Given the description of an element on the screen output the (x, y) to click on. 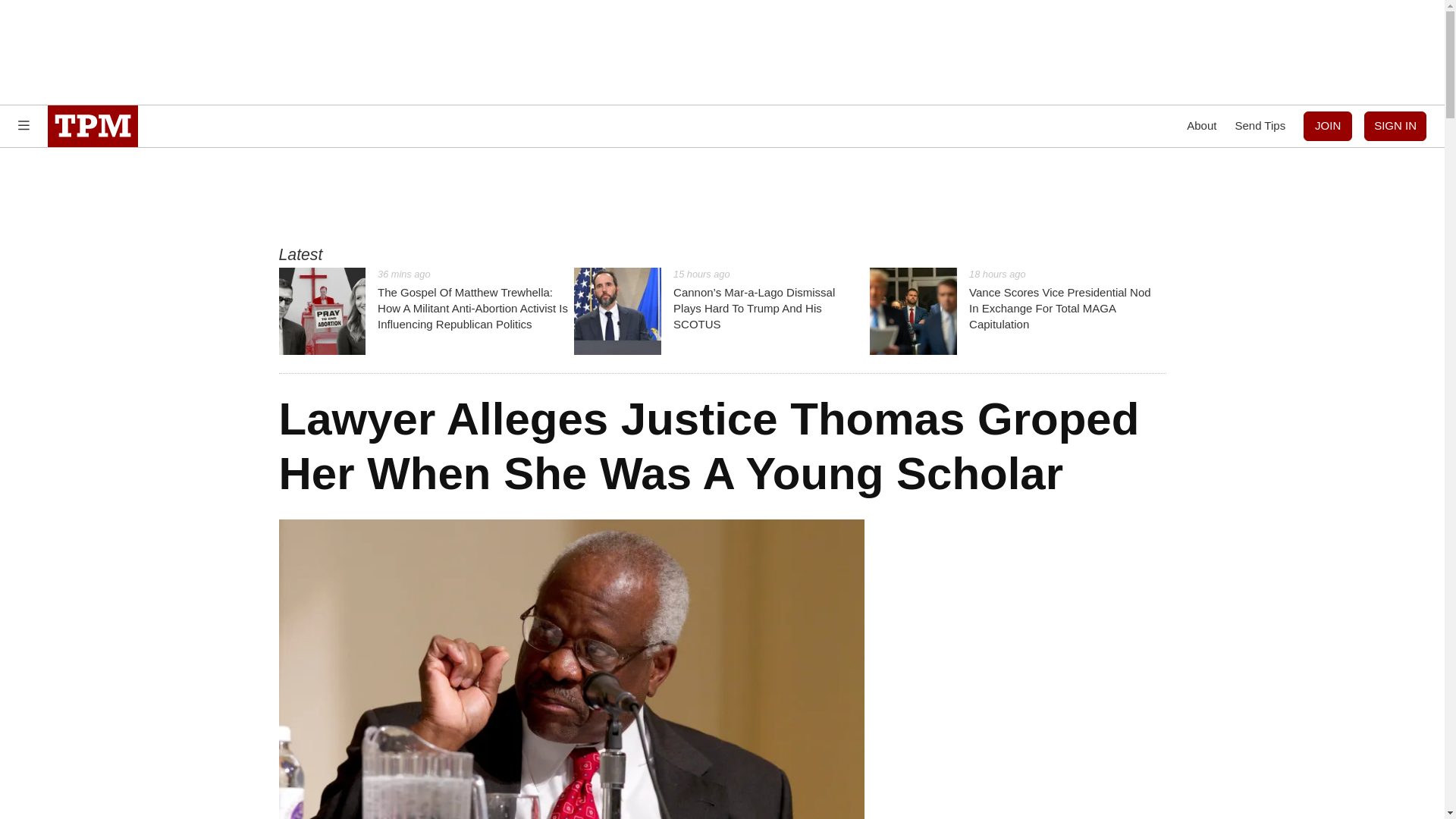
3rd party ad content (721, 196)
JOIN (1327, 125)
Send Tips (1259, 125)
3rd party ad content (721, 52)
SIGN IN (1395, 125)
About (1200, 125)
